Given the description of an element on the screen output the (x, y) to click on. 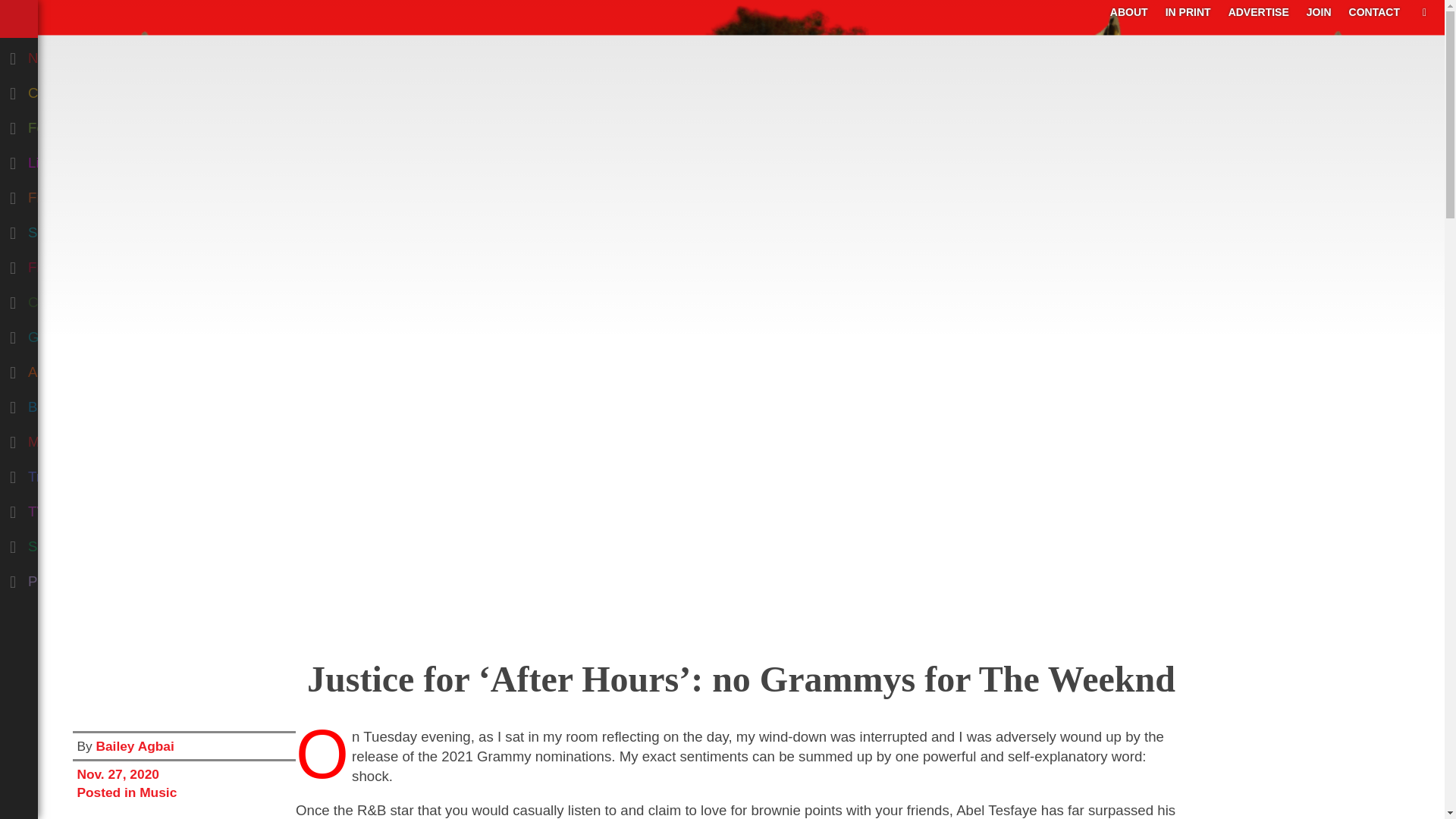
Features (79, 124)
IN PRINT (1188, 11)
Music (79, 438)
Climate (79, 298)
Games (79, 334)
Sport (79, 543)
Podcasts (79, 578)
Bailey Agbai (134, 745)
ABOUT (1128, 11)
News (79, 54)
ADVERTISE (1258, 11)
Posted in (108, 792)
Arts (79, 369)
Books (79, 403)
TV (79, 508)
